Given the description of an element on the screen output the (x, y) to click on. 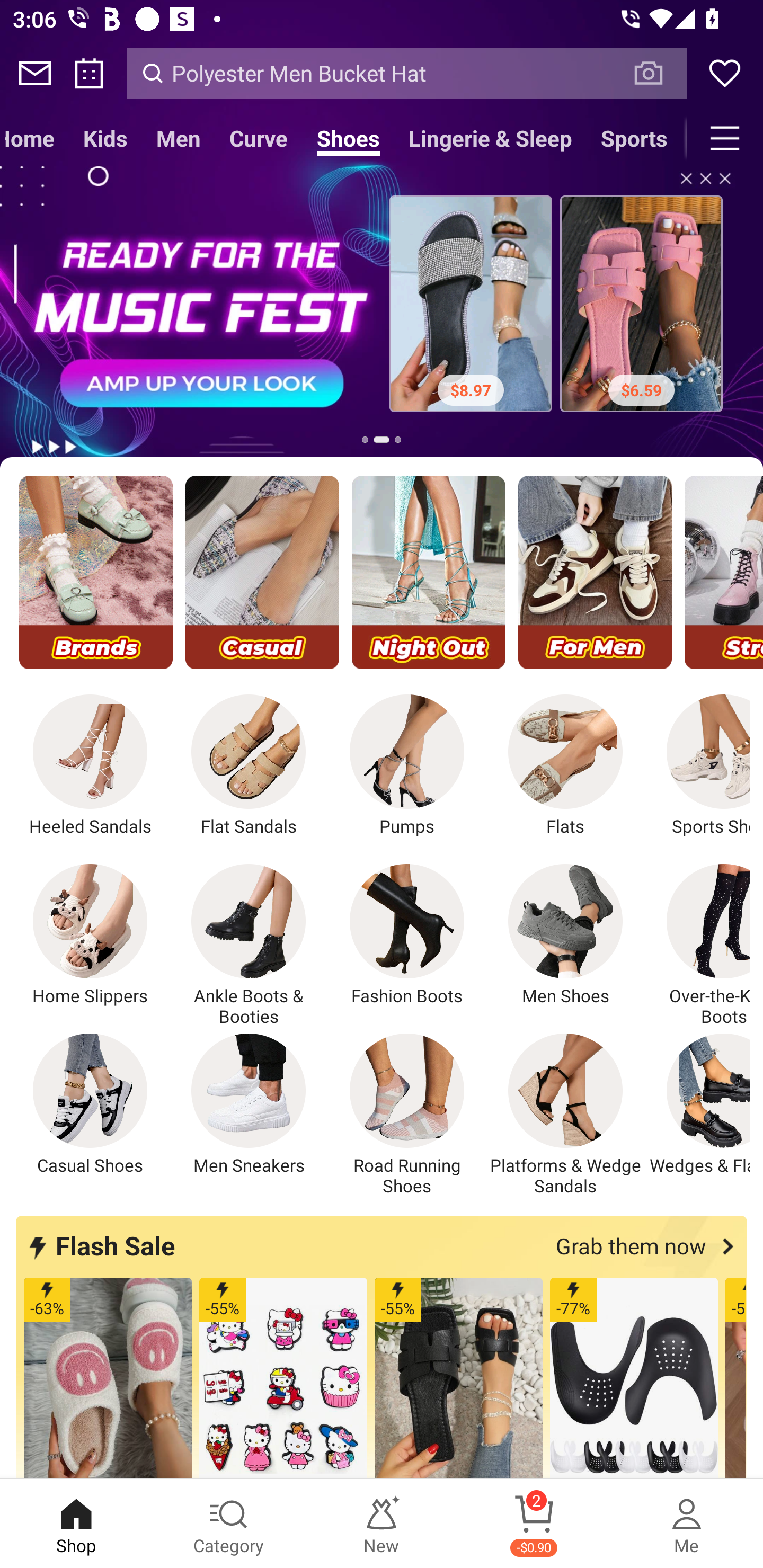
Wishlist (724, 72)
VISUAL SEARCH (657, 72)
Kids (104, 137)
Men (178, 137)
Curve (258, 137)
Shoes (348, 137)
Lingerie & Sleep (490, 137)
Sports (634, 137)
$8.97 $6.59 (381, 307)
Heeled Sandals (89, 765)
Flat Sandals (248, 765)
Pumps (406, 765)
Flats (565, 765)
Sports Shoes (698, 765)
Home Slippers (89, 934)
Ankle Boots & Booties (248, 945)
Fashion Boots (406, 934)
Men Shoes (565, 934)
Over-the-Knee Boots (698, 945)
Casual Shoes (89, 1104)
Men Sneakers (248, 1104)
Road Running Shoes (406, 1114)
Platforms & Wedge Sandals (565, 1114)
Wedges & Flatform (698, 1104)
Category (228, 1523)
New (381, 1523)
Cart 2 -$0.90 (533, 1523)
Me (686, 1523)
